Given the description of an element on the screen output the (x, y) to click on. 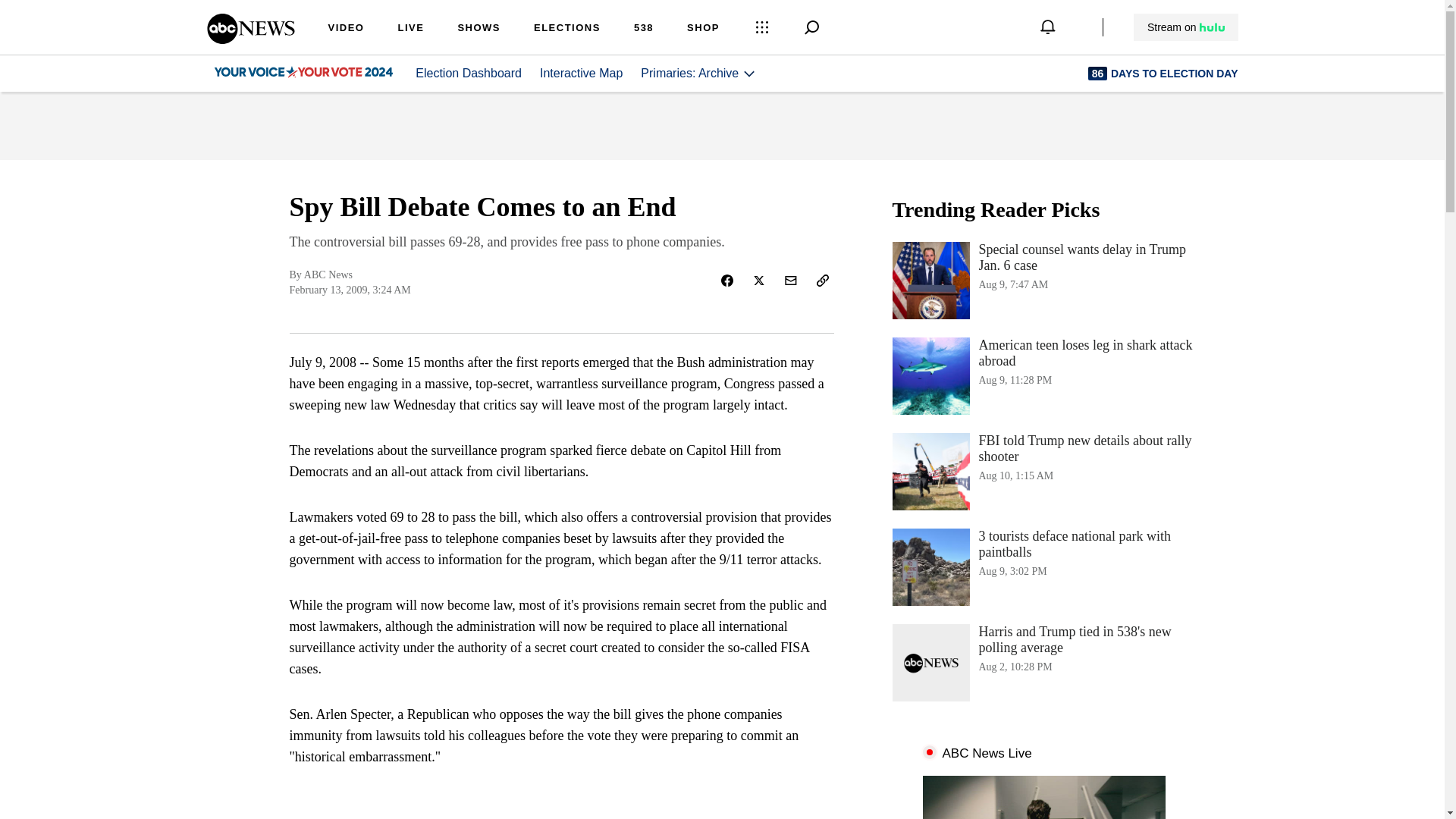
SHOP (703, 28)
538 (643, 28)
Stream on (1186, 26)
Interactive Map (581, 73)
Primaries: Archive (698, 73)
Stream on (1185, 27)
Election Dashboard (467, 73)
SHOWS (478, 28)
